Given the description of an element on the screen output the (x, y) to click on. 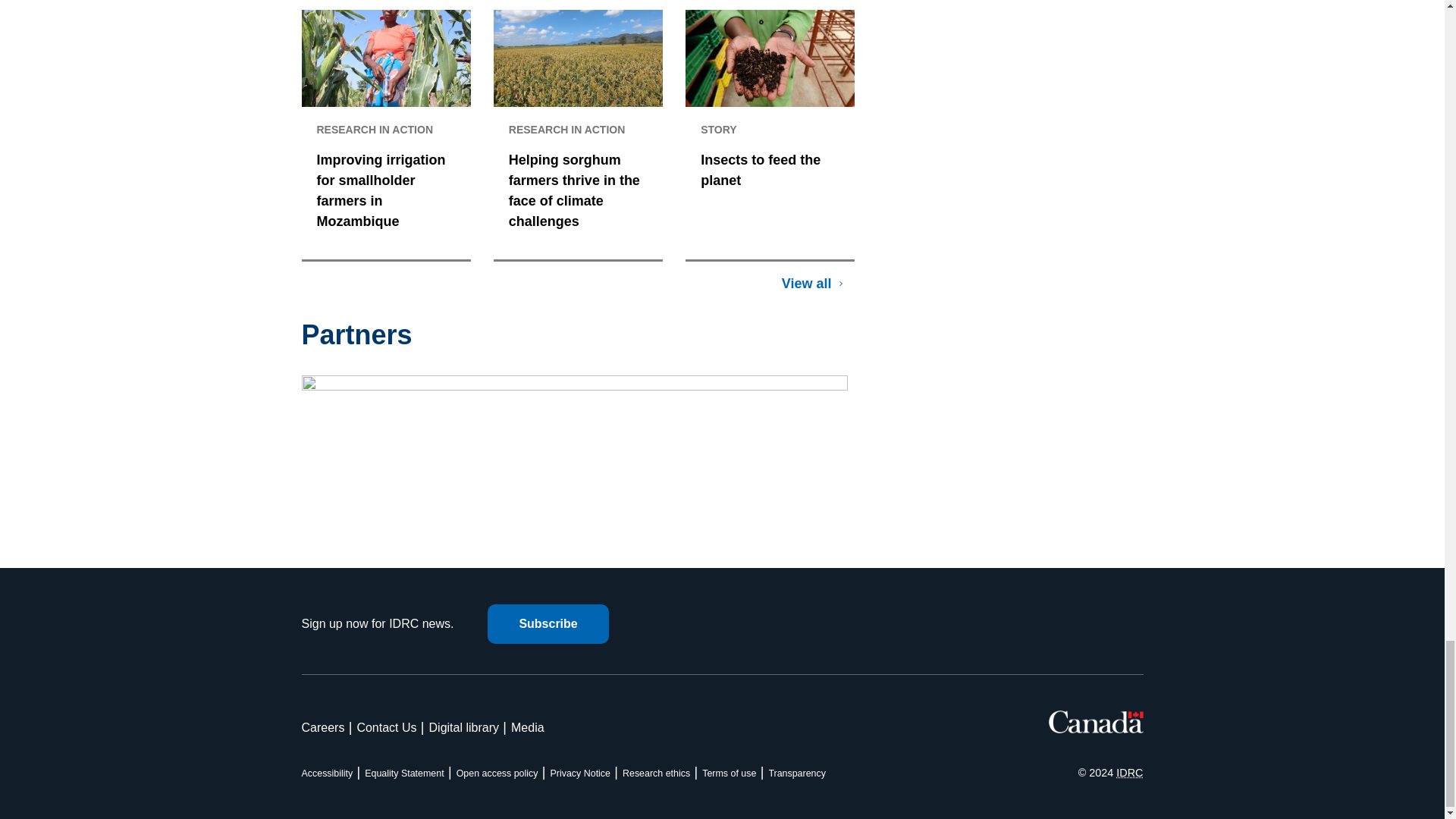
International Development Research Centre (1129, 772)
Accessibility Plan (327, 773)
